Given the description of an element on the screen output the (x, y) to click on. 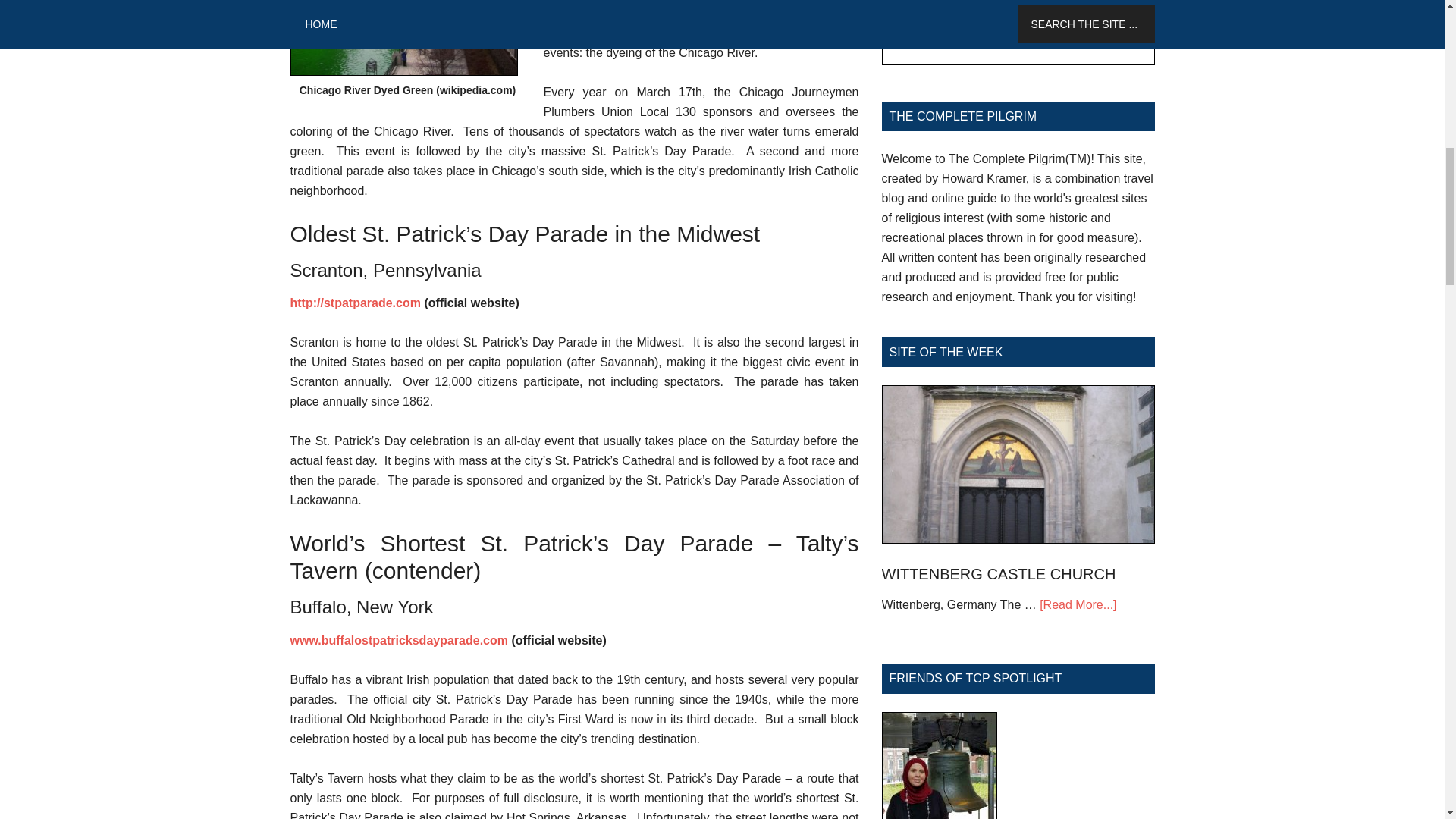
www.buffalostpatricksdayparade.com (397, 640)
